Given the description of an element on the screen output the (x, y) to click on. 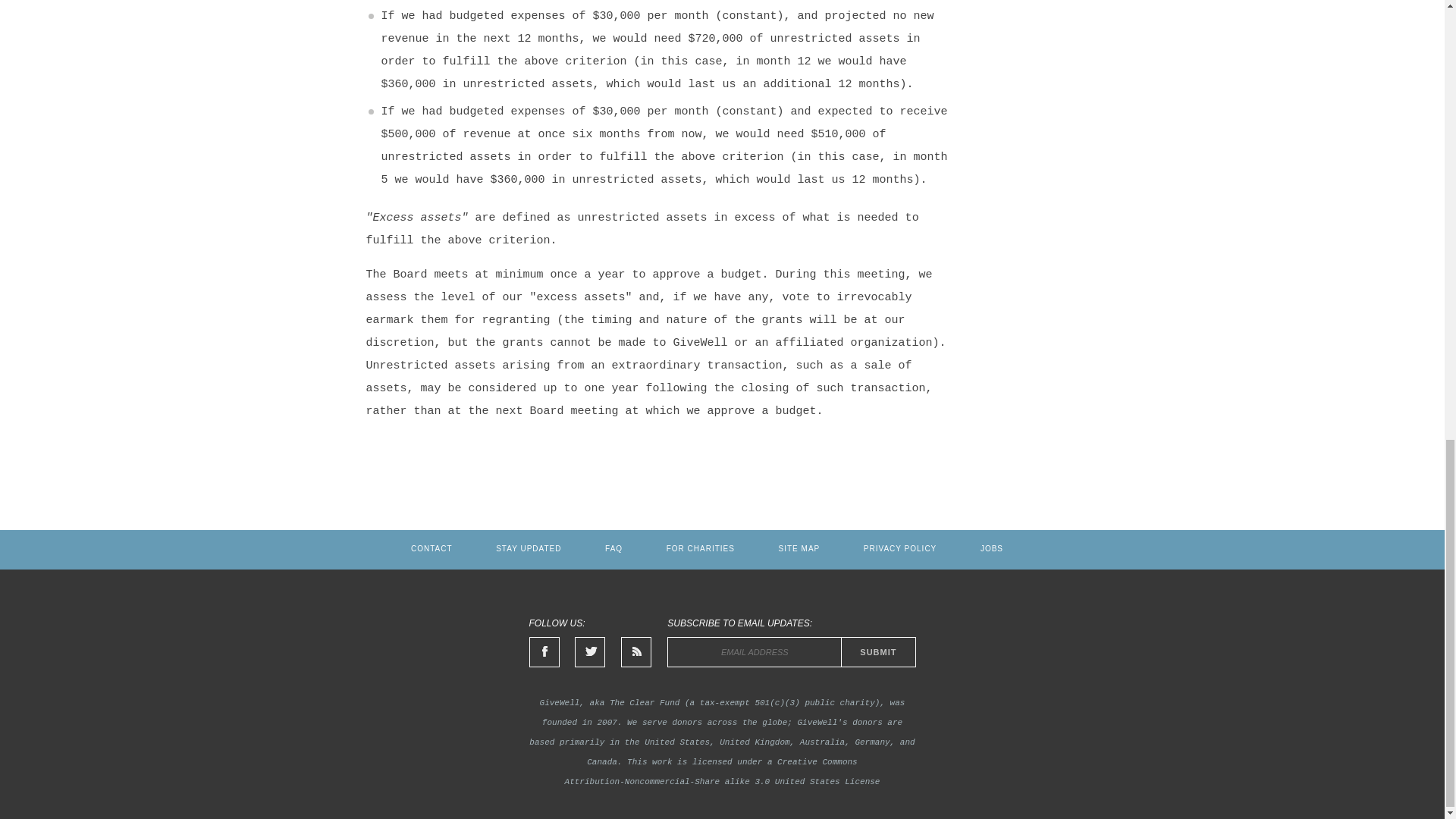
RSS (635, 652)
Twitter (590, 652)
Submit (878, 652)
Facebook (544, 652)
Submit (878, 652)
